Given the description of an element on the screen output the (x, y) to click on. 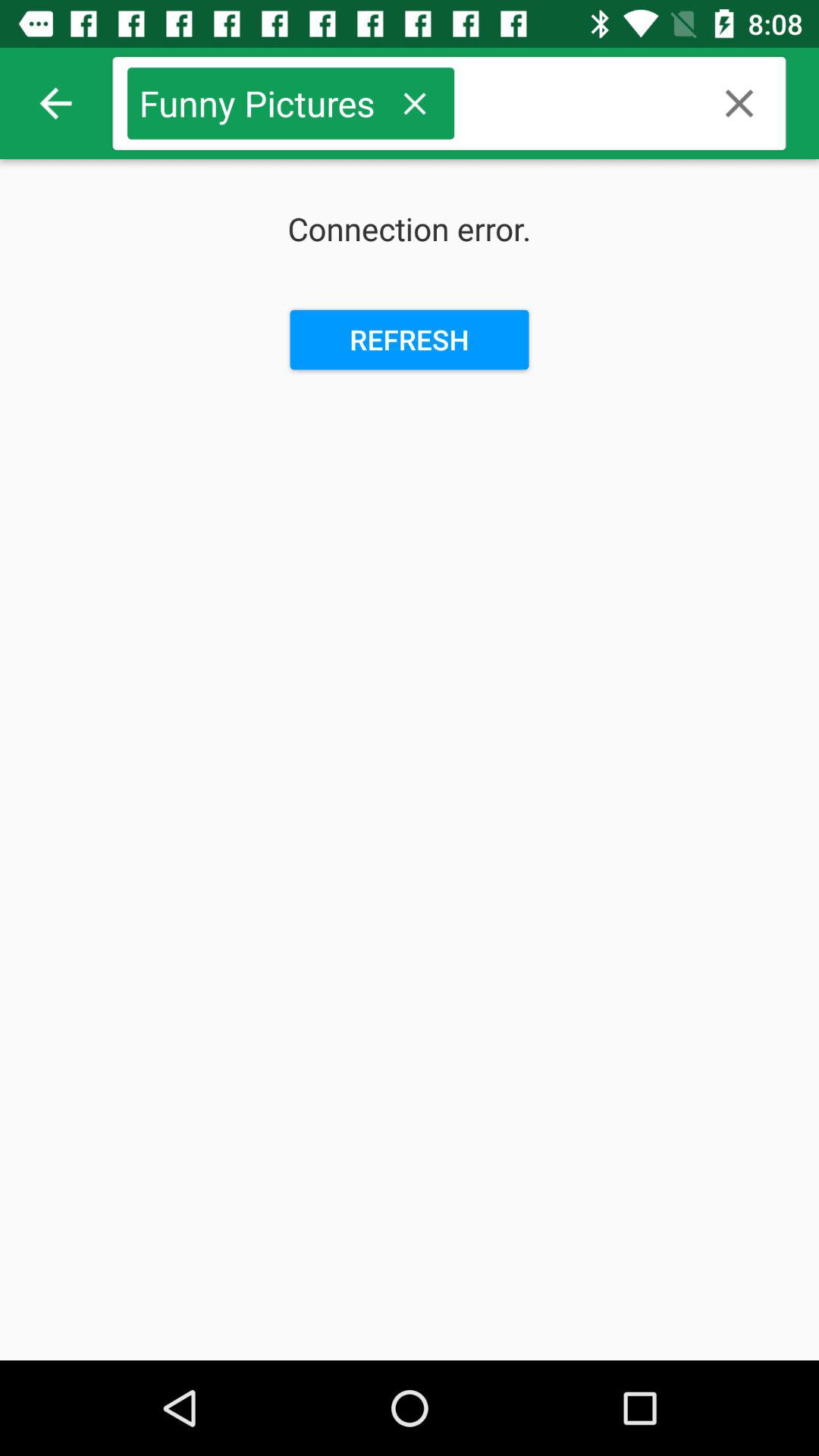
click refresh icon (409, 339)
